Given the description of an element on the screen output the (x, y) to click on. 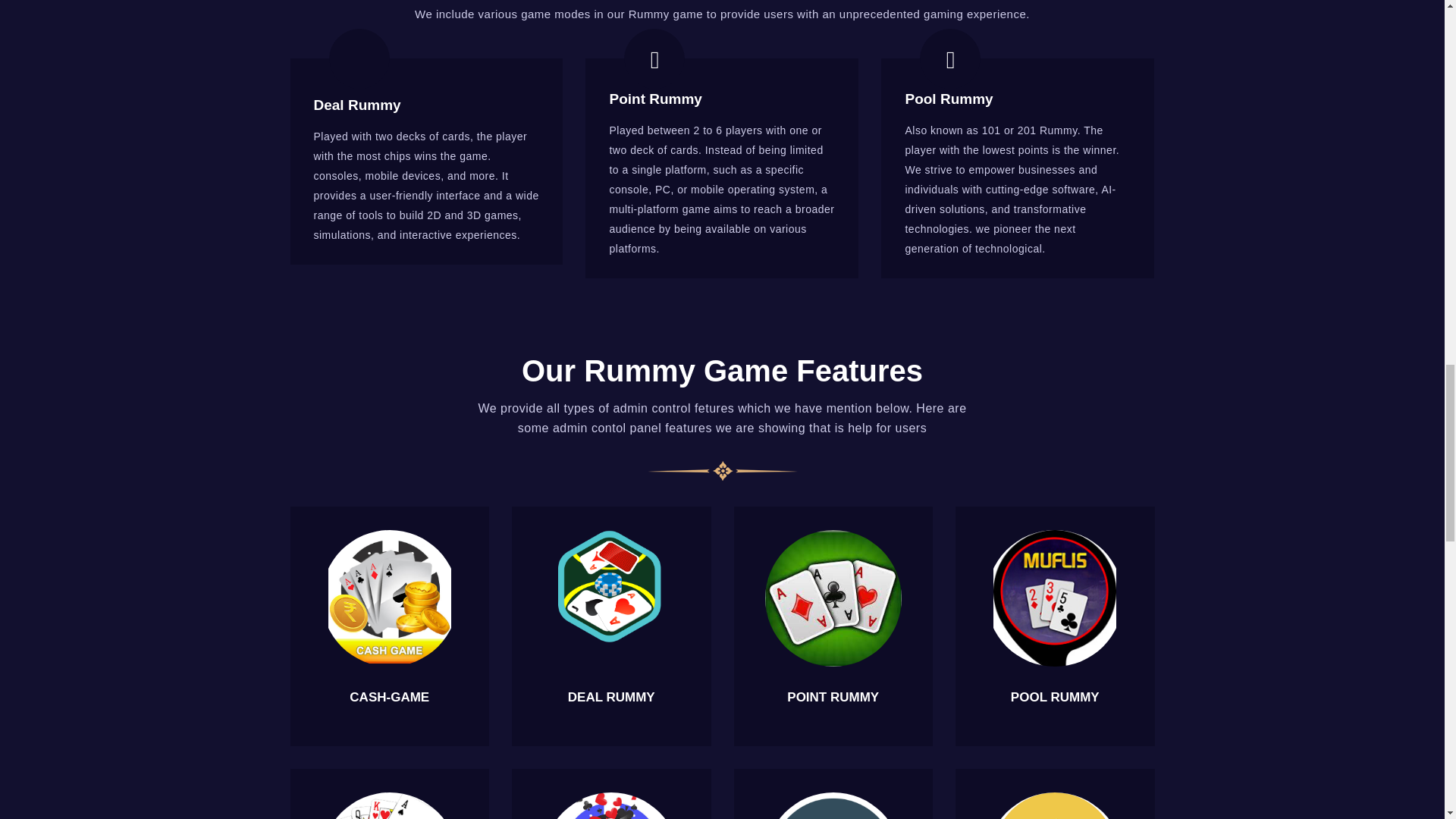
DEAL RUMMY (611, 697)
CASH-GAME (389, 697)
POOL RUMMY (1054, 697)
POINT RUMMY (833, 697)
